Given the description of an element on the screen output the (x, y) to click on. 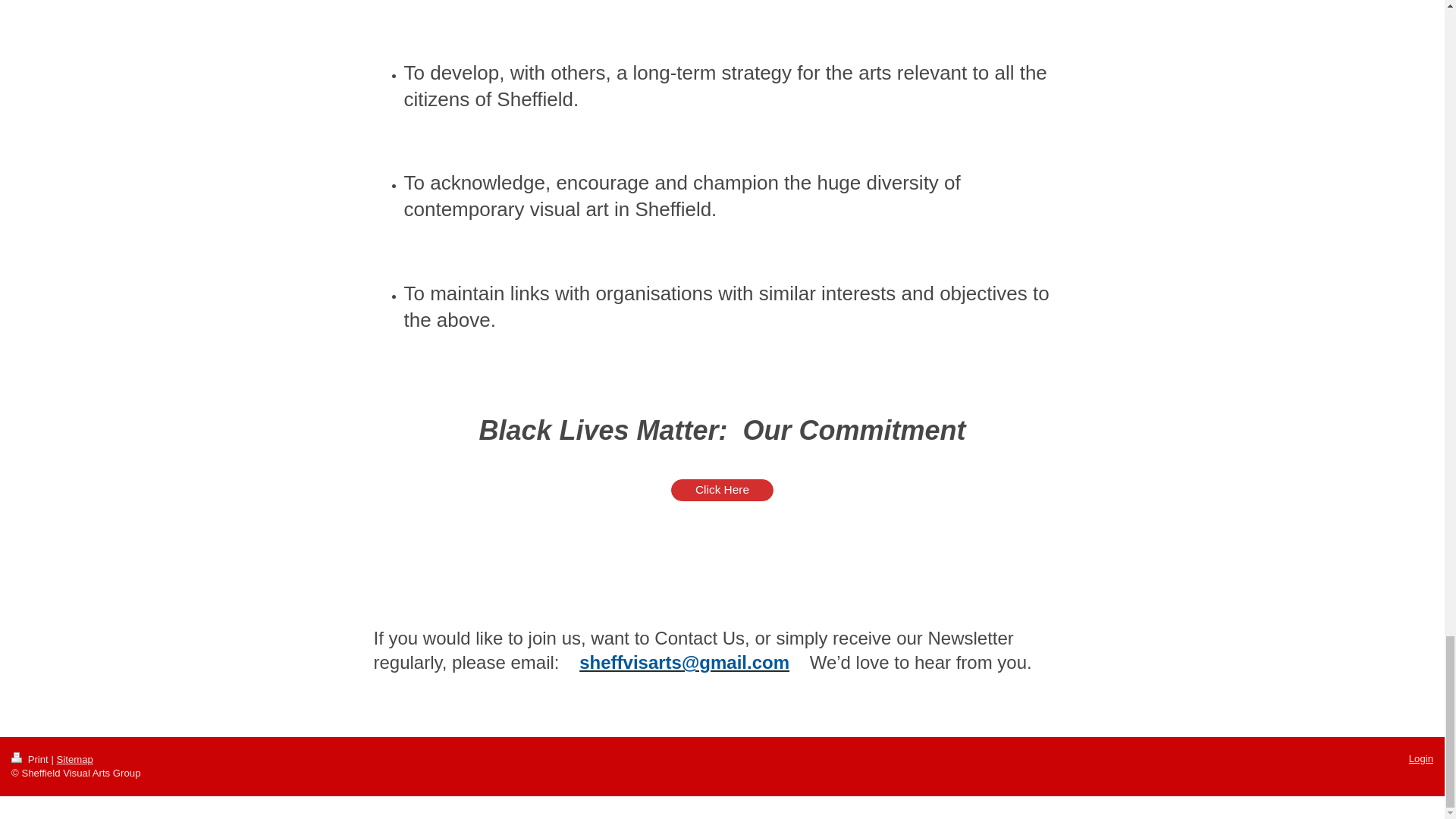
Sitemap (74, 758)
Print (30, 758)
Click Here (722, 490)
Login (1420, 758)
